Given the description of an element on the screen output the (x, y) to click on. 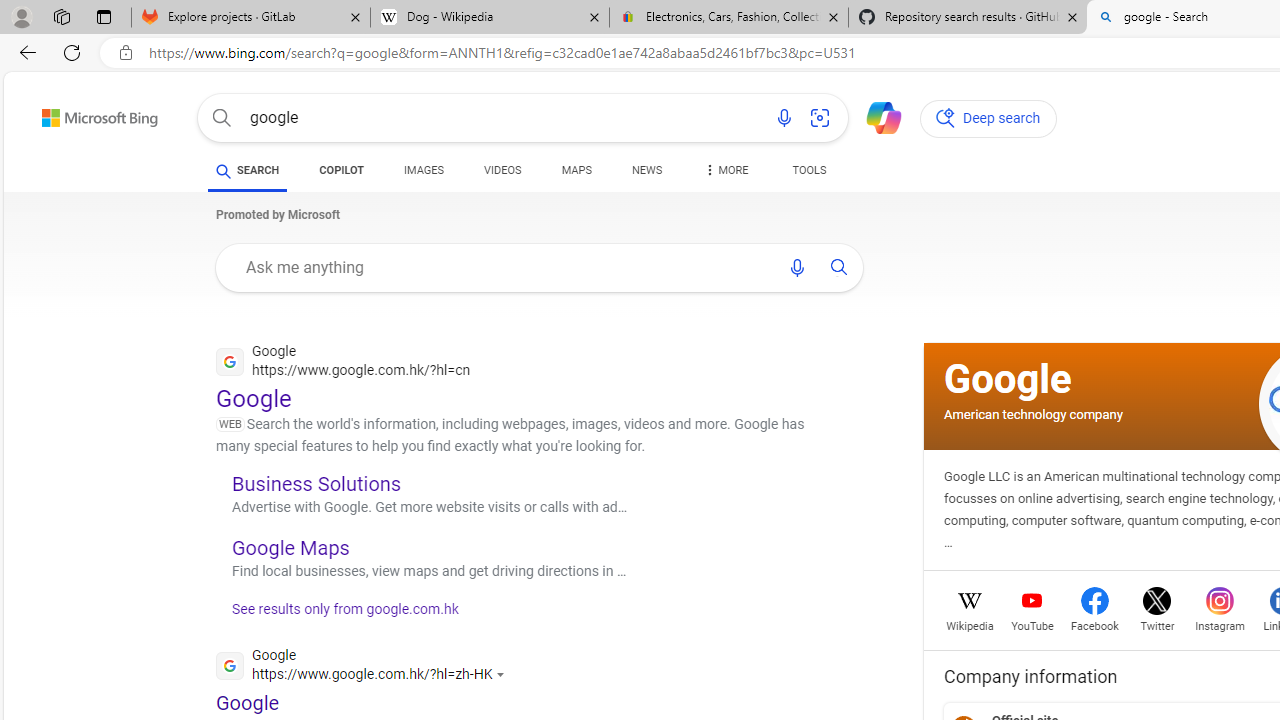
Actions for this site (503, 673)
NEWS (646, 173)
SEARCH (247, 170)
Dropdown Menu (724, 170)
NEWS (646, 170)
Chat (875, 116)
AutomationID: uaseabtn (839, 267)
